Given the description of an element on the screen output the (x, y) to click on. 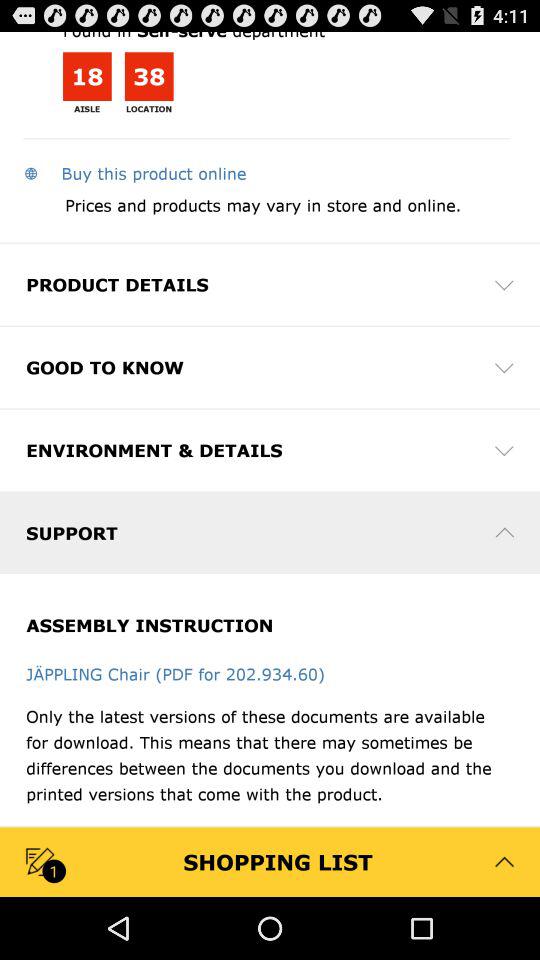
select buy this product icon (134, 173)
